Given the description of an element on the screen output the (x, y) to click on. 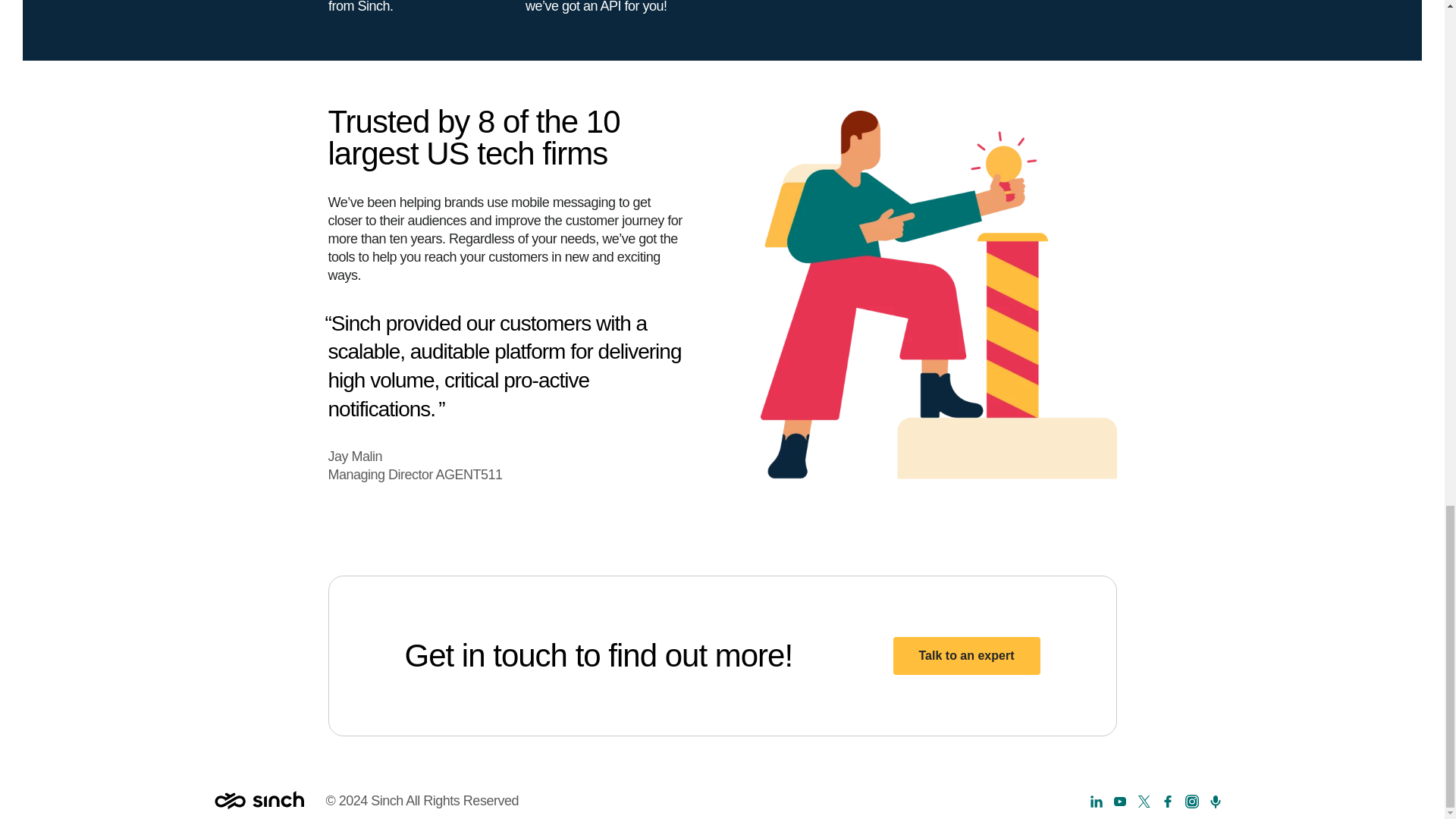
Talk to an expert (967, 655)
